Given the description of an element on the screen output the (x, y) to click on. 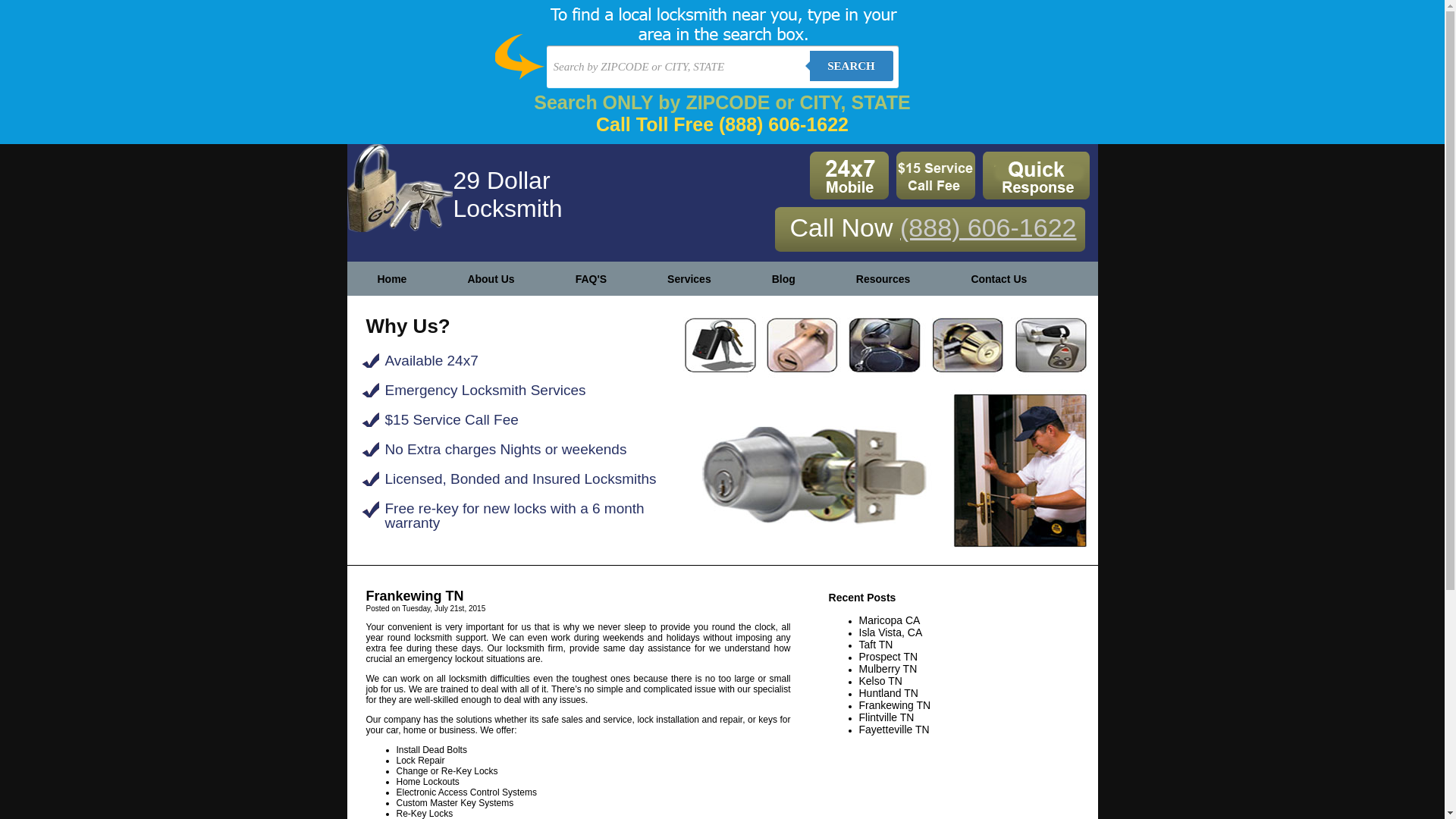
Blog Element type: text (783, 278)
Resources Element type: text (883, 278)
FAQ'S Element type: text (591, 278)
Home Element type: text (392, 278)
About Us Element type: text (490, 278)
Contact Us Element type: text (998, 278)
Maricopa CA Element type: text (888, 620)
Prospect TN Element type: text (887, 656)
Huntland TN Element type: text (887, 693)
Mulberry TN Element type: text (887, 668)
SEARCH Element type: text (851, 65)
Taft TN Element type: text (875, 644)
Flintville TN Element type: text (885, 717)
Call Toll Free (888) 606-1622 Element type: text (722, 123)
(888) 606-1622 Element type: text (988, 227)
Fayetteville TN Element type: text (893, 729)
Kelso TN Element type: text (879, 680)
Isla Vista, CA Element type: text (890, 632)
Frankewing TN Element type: text (894, 705)
Services Element type: text (689, 278)
